Given the description of an element on the screen output the (x, y) to click on. 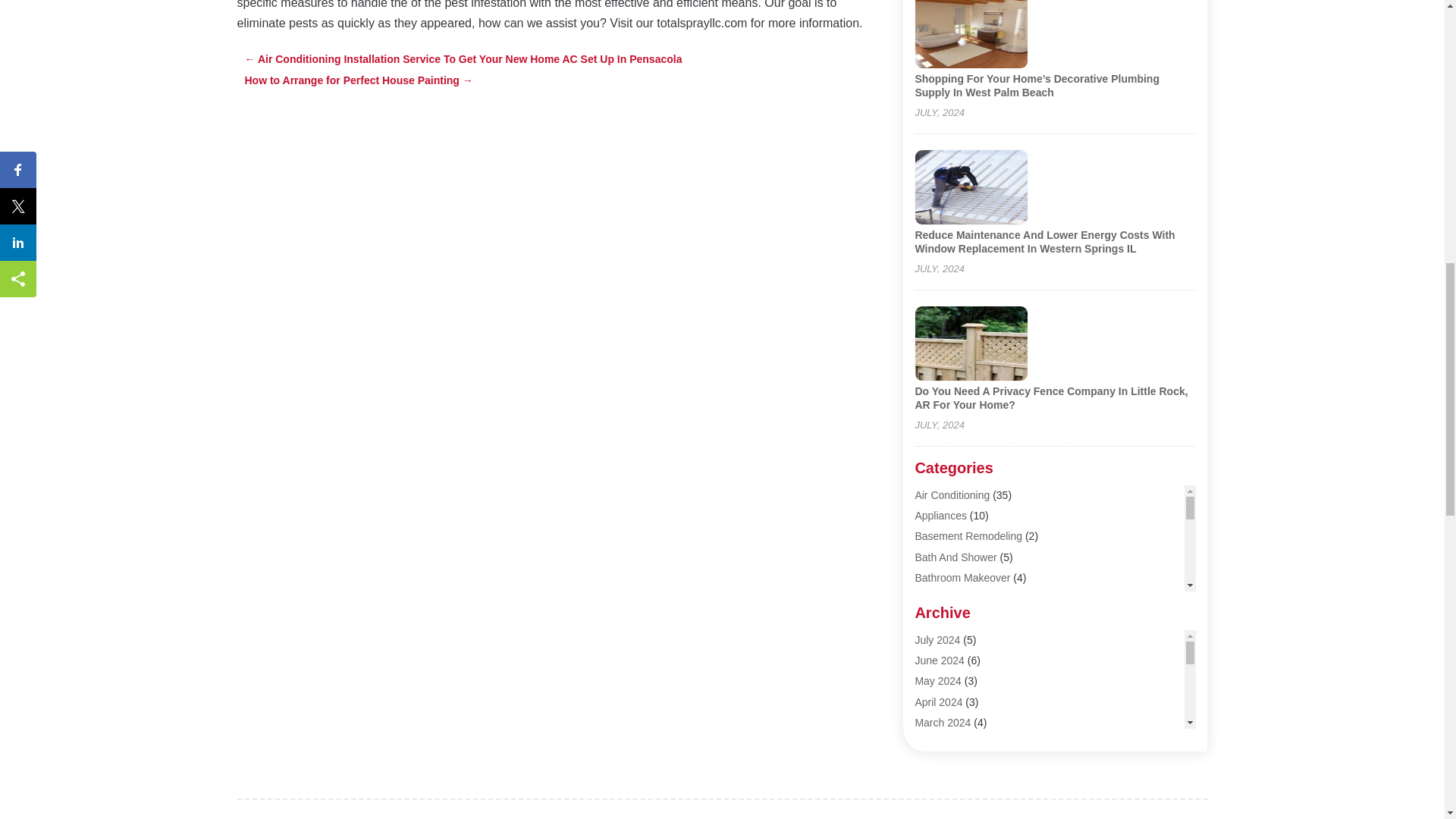
Air Conditioning (952, 494)
Carpet Cleaning Service (971, 680)
Bathroom Makeover (962, 577)
Building Material (953, 618)
Basement Remodeling (968, 535)
Bath And Shower (954, 557)
Blinds (928, 598)
Cleaning Tips And Tools (970, 742)
Cleaning Service (954, 721)
Appliances (940, 515)
Construction And Maintenance (986, 784)
Cleaning (935, 701)
Commercial Refrigeration (974, 762)
